Given the description of an element on the screen output the (x, y) to click on. 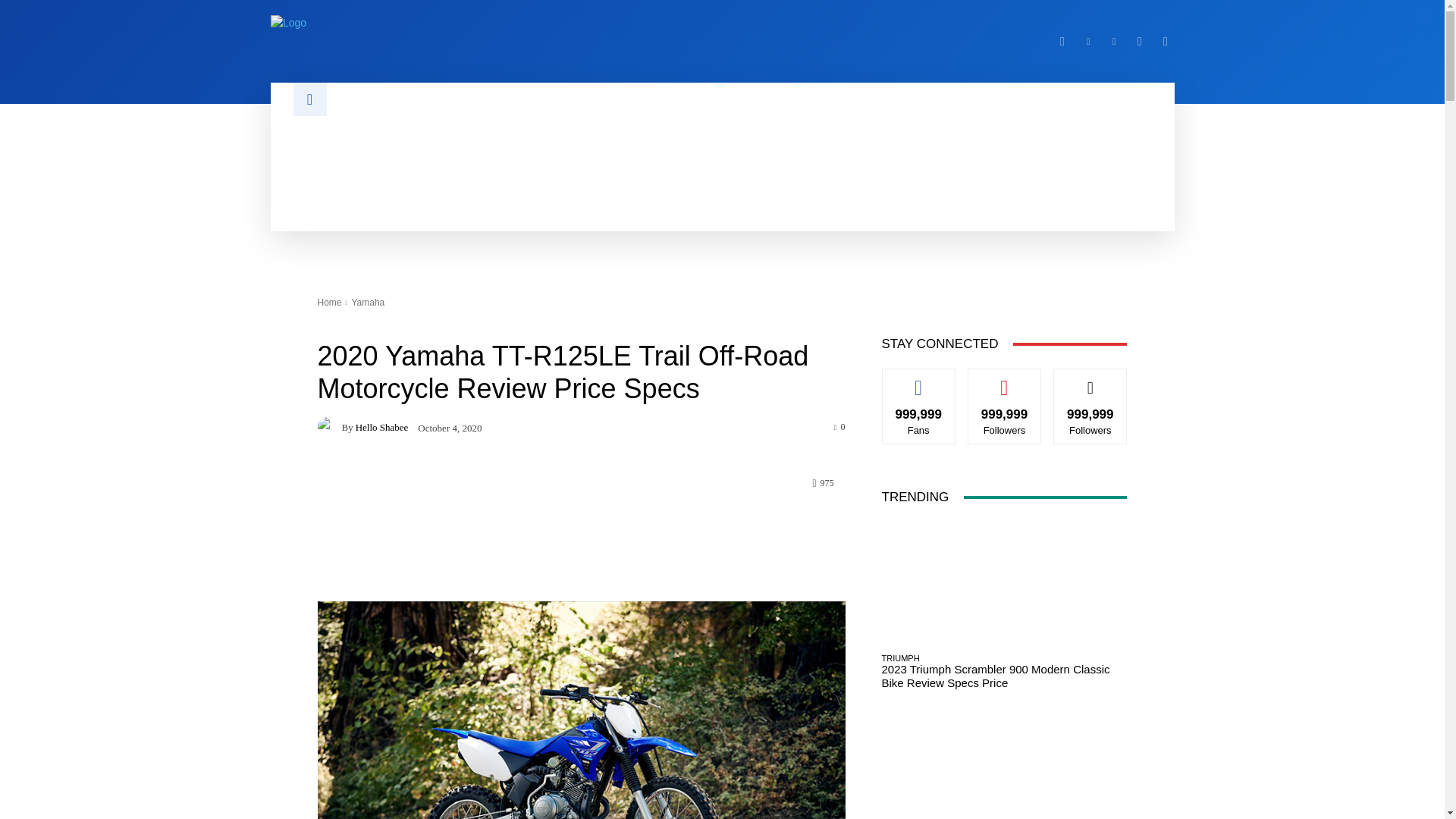
Pinterest (1112, 40)
View all posts in Yamaha (367, 302)
Twitter (1138, 40)
Hello Shabee (328, 426)
Facebook (1061, 40)
Linkedin (1087, 40)
Youtube (1164, 40)
